Given the description of an element on the screen output the (x, y) to click on. 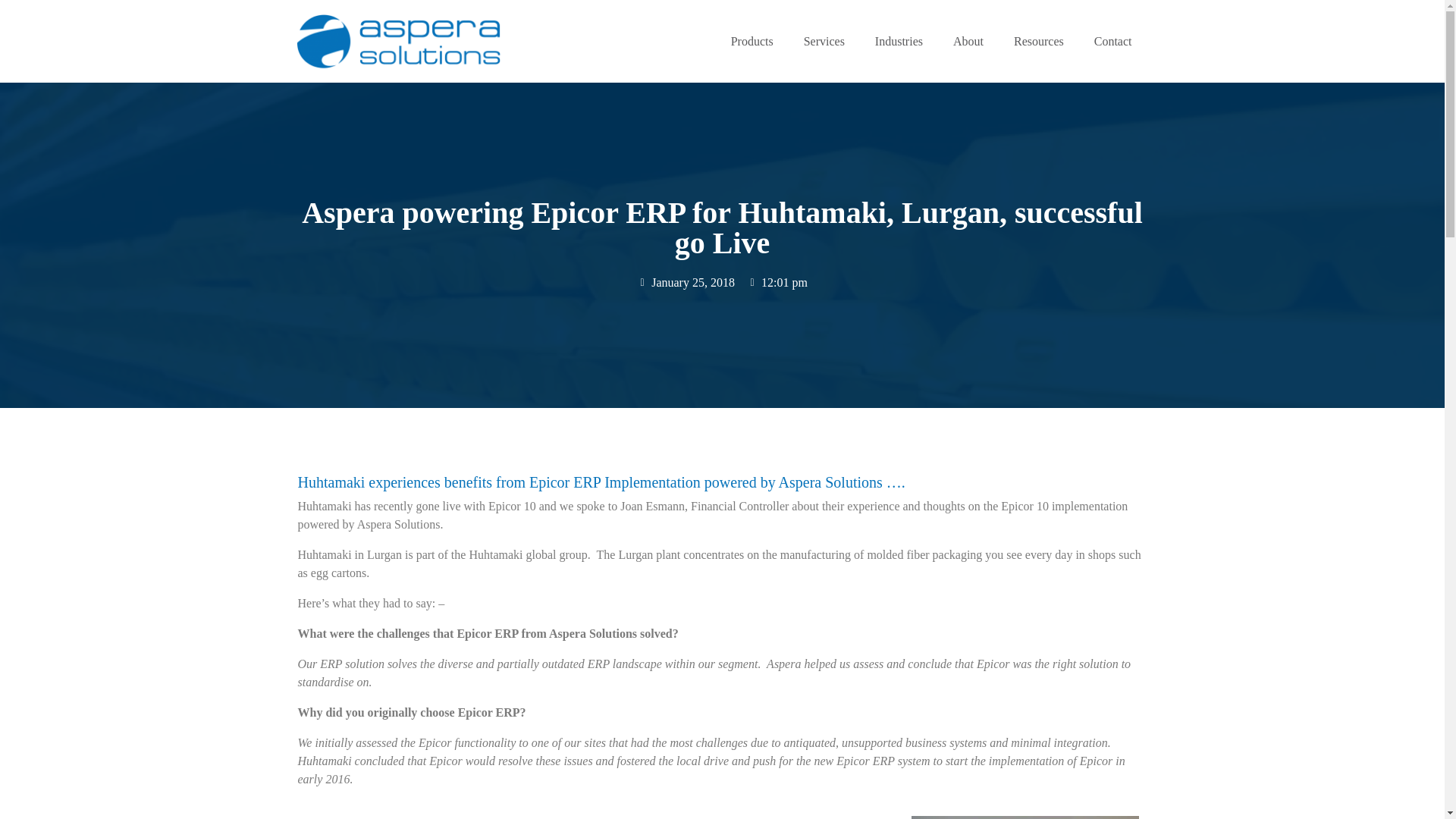
Services (824, 41)
Resources (1038, 41)
Aspera-Solutions (397, 41)
Products (752, 41)
Industries (898, 41)
Contact (1112, 41)
About (967, 41)
